Given the description of an element on the screen output the (x, y) to click on. 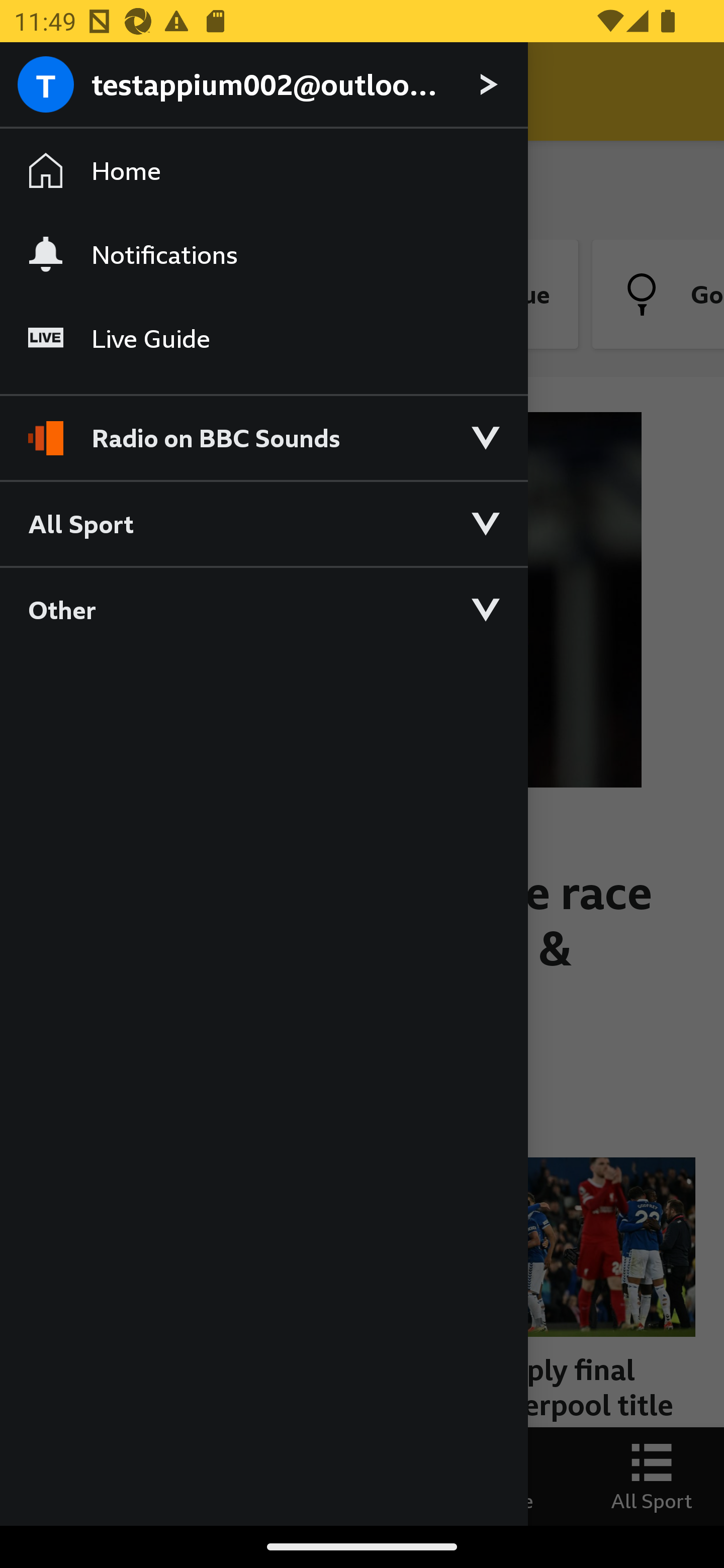
testappium002@outlook.com (263, 85)
Home (263, 170)
Notifications (263, 253)
Live Guide (263, 338)
Radio on BBC Sounds (263, 429)
All Sport (263, 522)
Other (263, 609)
